Given the description of an element on the screen output the (x, y) to click on. 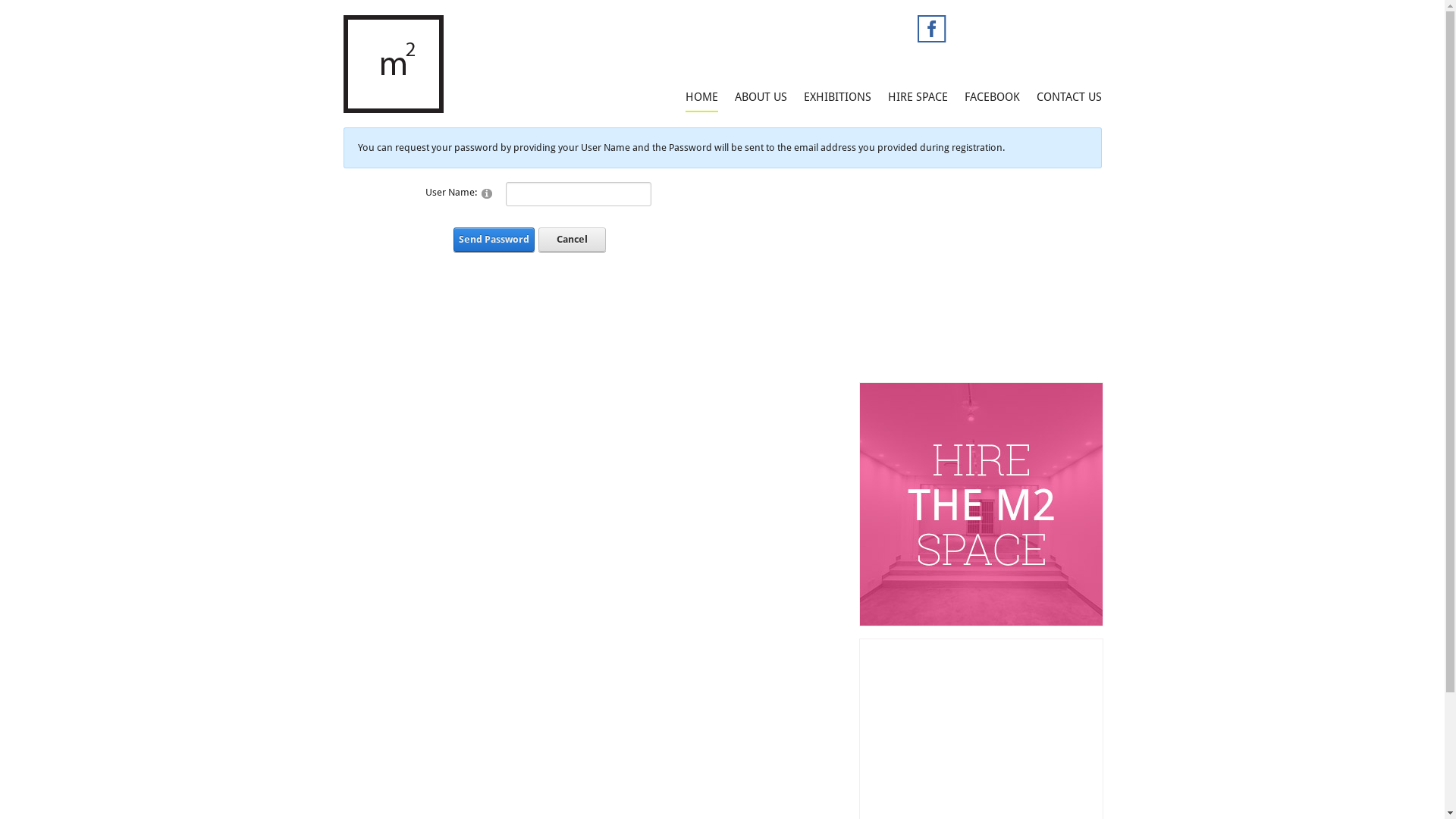
EXHIBITIONS Element type: text (837, 96)
HOME Element type: text (701, 96)
FACEBOOK Element type: text (991, 96)
Cancel Element type: text (571, 239)
ABOUT US Element type: text (760, 96)
HIRE SPACE Element type: text (917, 96)
CONTACT US Element type: text (1068, 96)
Send Password Element type: text (493, 239)
